Given the description of an element on the screen output the (x, y) to click on. 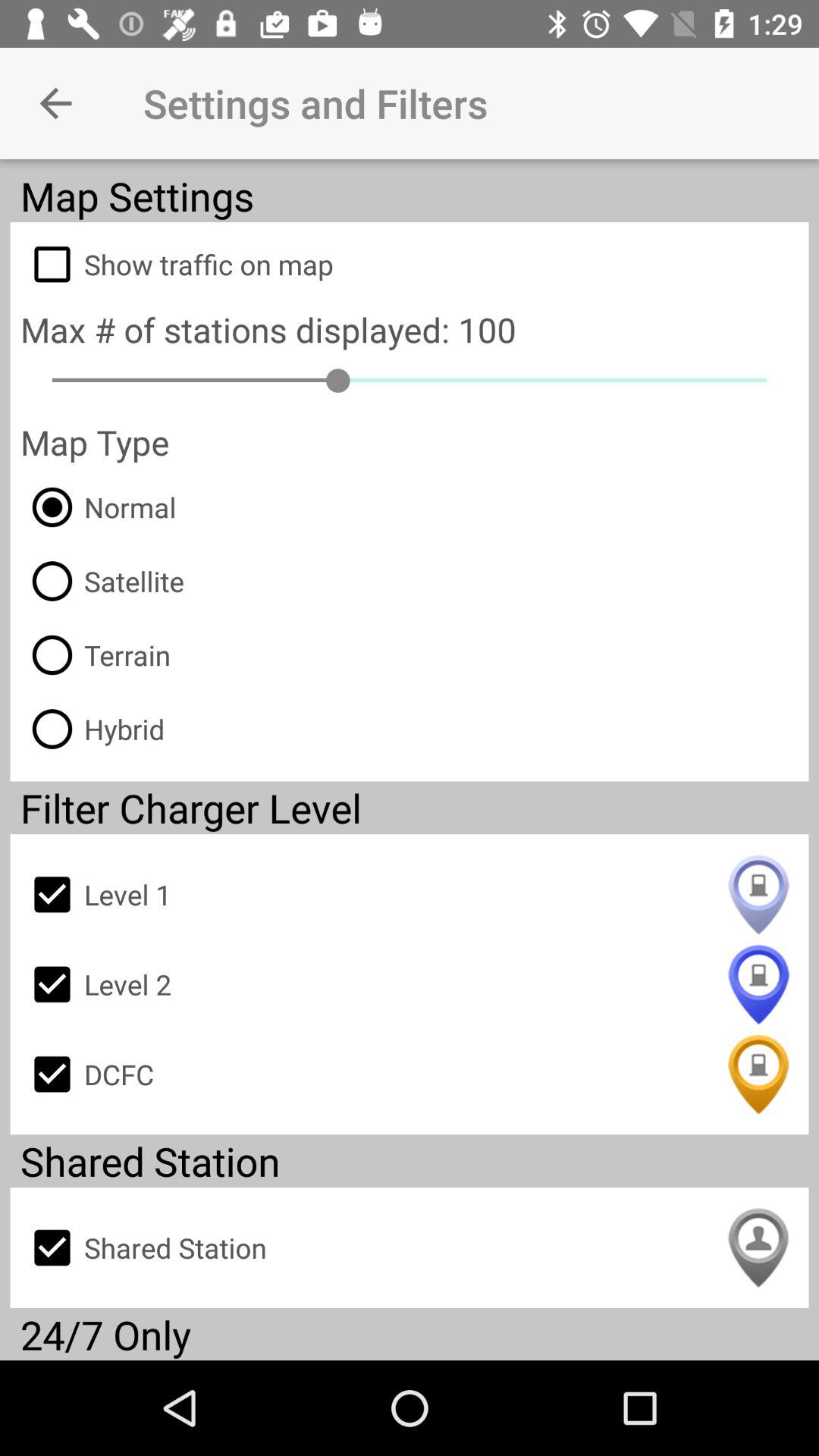
open icon below level 1 icon (409, 984)
